Given the description of an element on the screen output the (x, y) to click on. 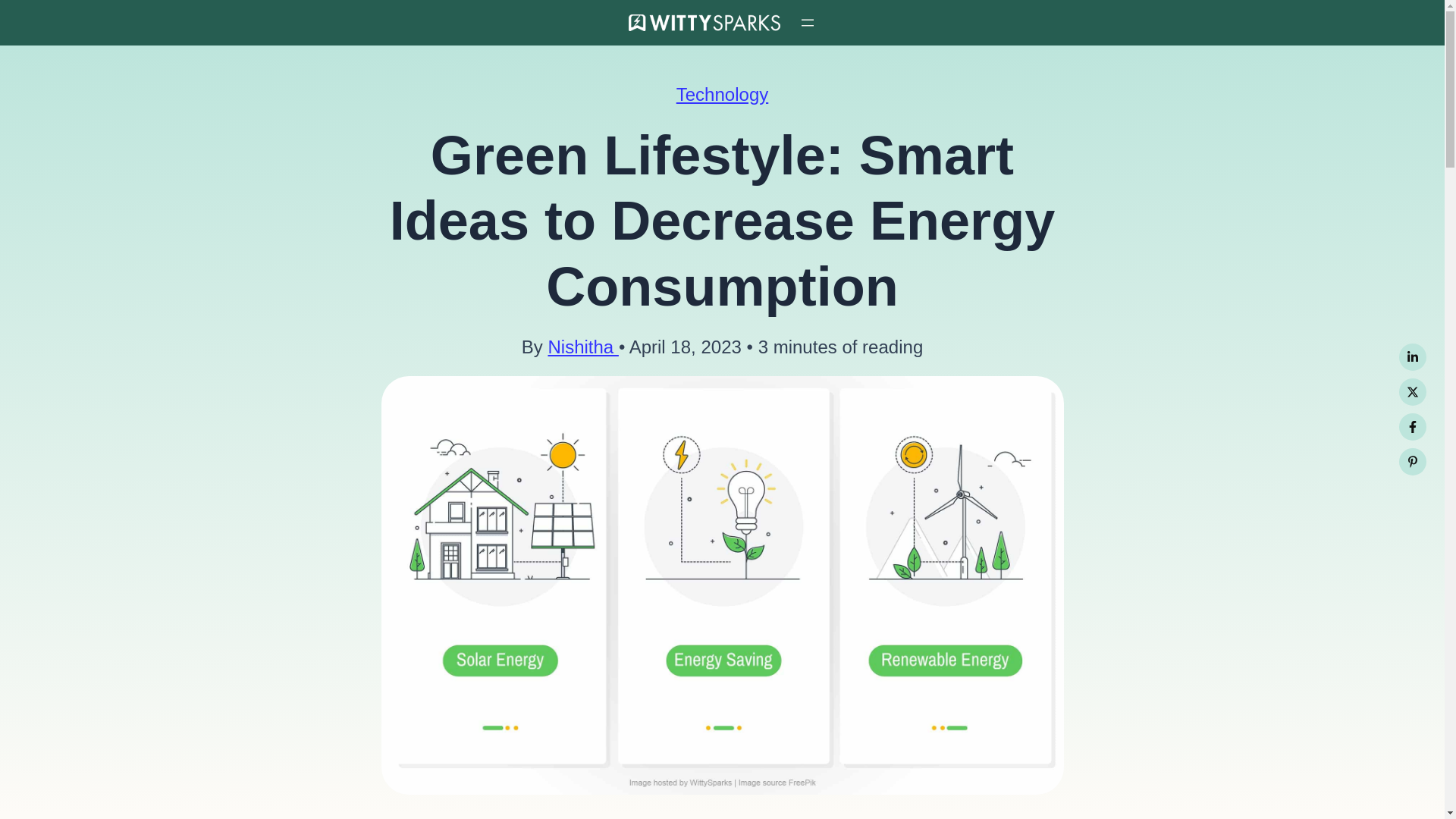
View all posts by Nishitha (582, 346)
Nishitha (582, 346)
Technology (722, 94)
